Given the description of an element on the screen output the (x, y) to click on. 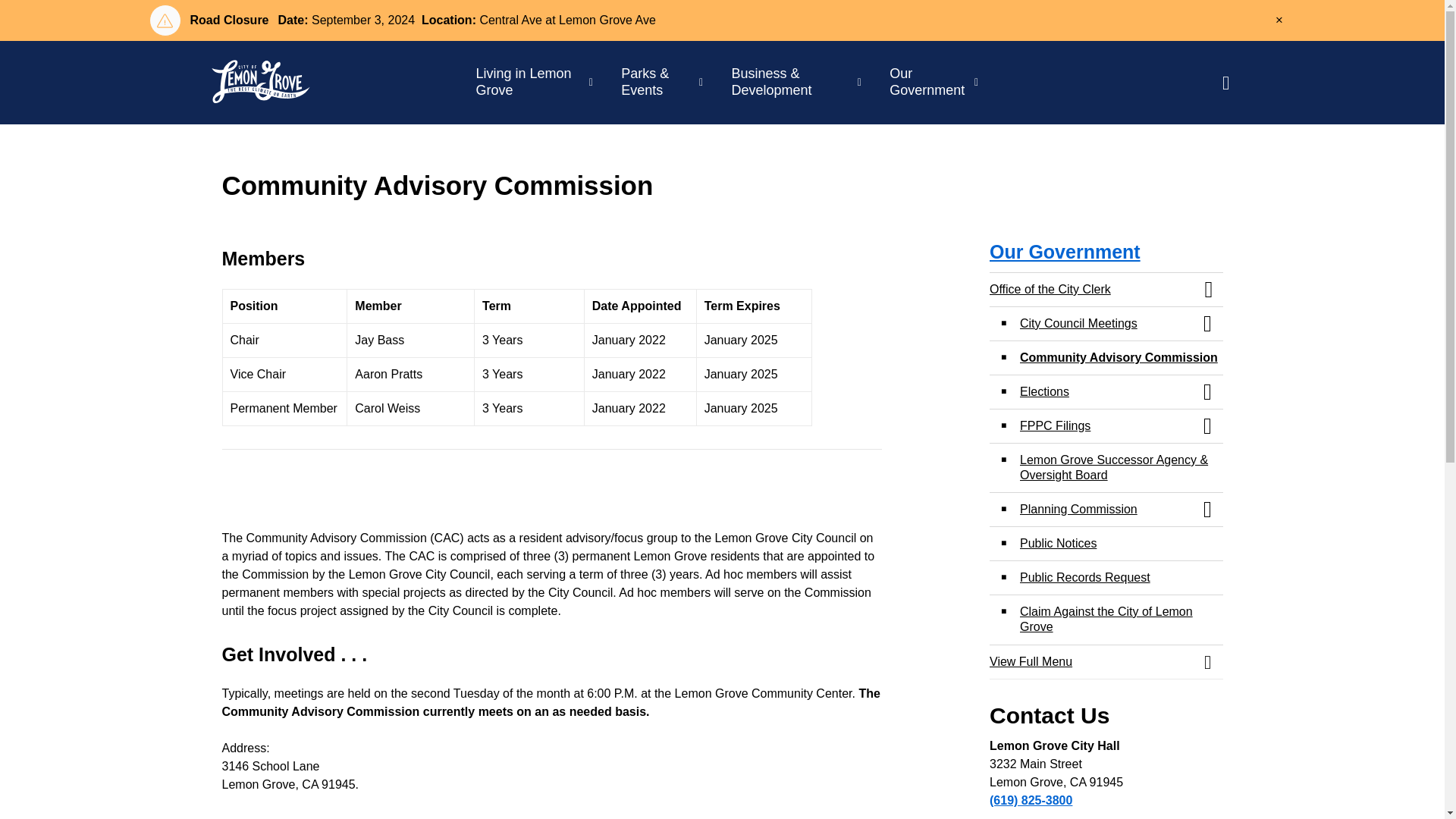
More Information (720, 20)
Our Government (928, 82)
Living in Lemon Grove (529, 82)
Close alert (1278, 20)
Lemon Grove (260, 82)
